Given the description of an element on the screen output the (x, y) to click on. 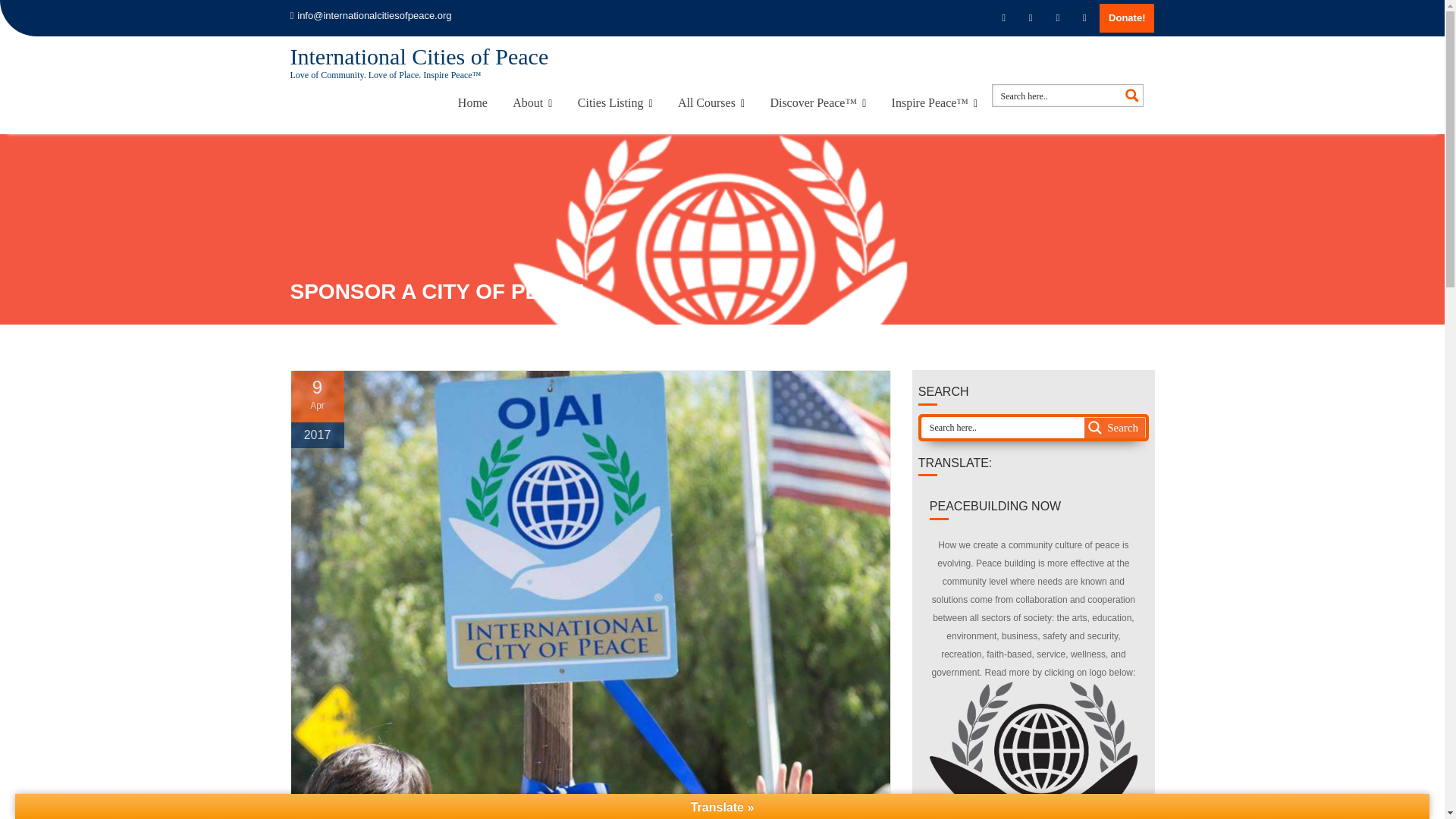
Facebook (1003, 17)
About (531, 103)
Cities Listing (614, 103)
International Cities of Peace (418, 56)
Youtube (1083, 17)
All Courses (710, 103)
Instagram (1057, 17)
Home (472, 103)
Donate! (1126, 18)
International Cities of Peace (418, 56)
Linkedin (1029, 17)
